Given the description of an element on the screen output the (x, y) to click on. 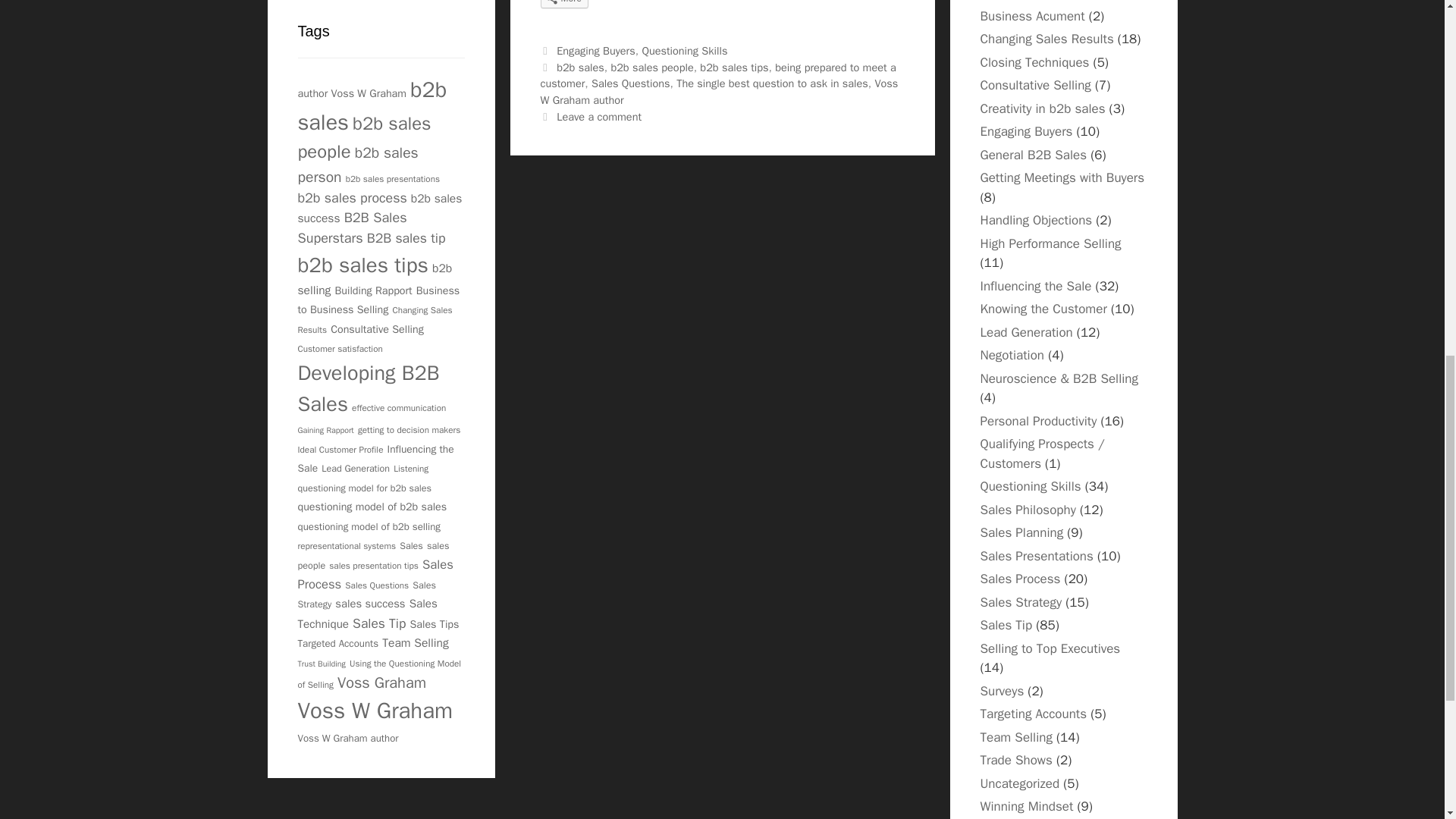
b2b sales (580, 67)
How to Close Successfully (1034, 62)
b2b sales person (357, 164)
Engaging Buyers (595, 50)
More (564, 4)
being prepared to meet a customer (717, 75)
b2b sales (371, 105)
Voss W Graham author (719, 91)
Leave a comment (599, 116)
Sales Questions (630, 83)
